Given the description of an element on the screen output the (x, y) to click on. 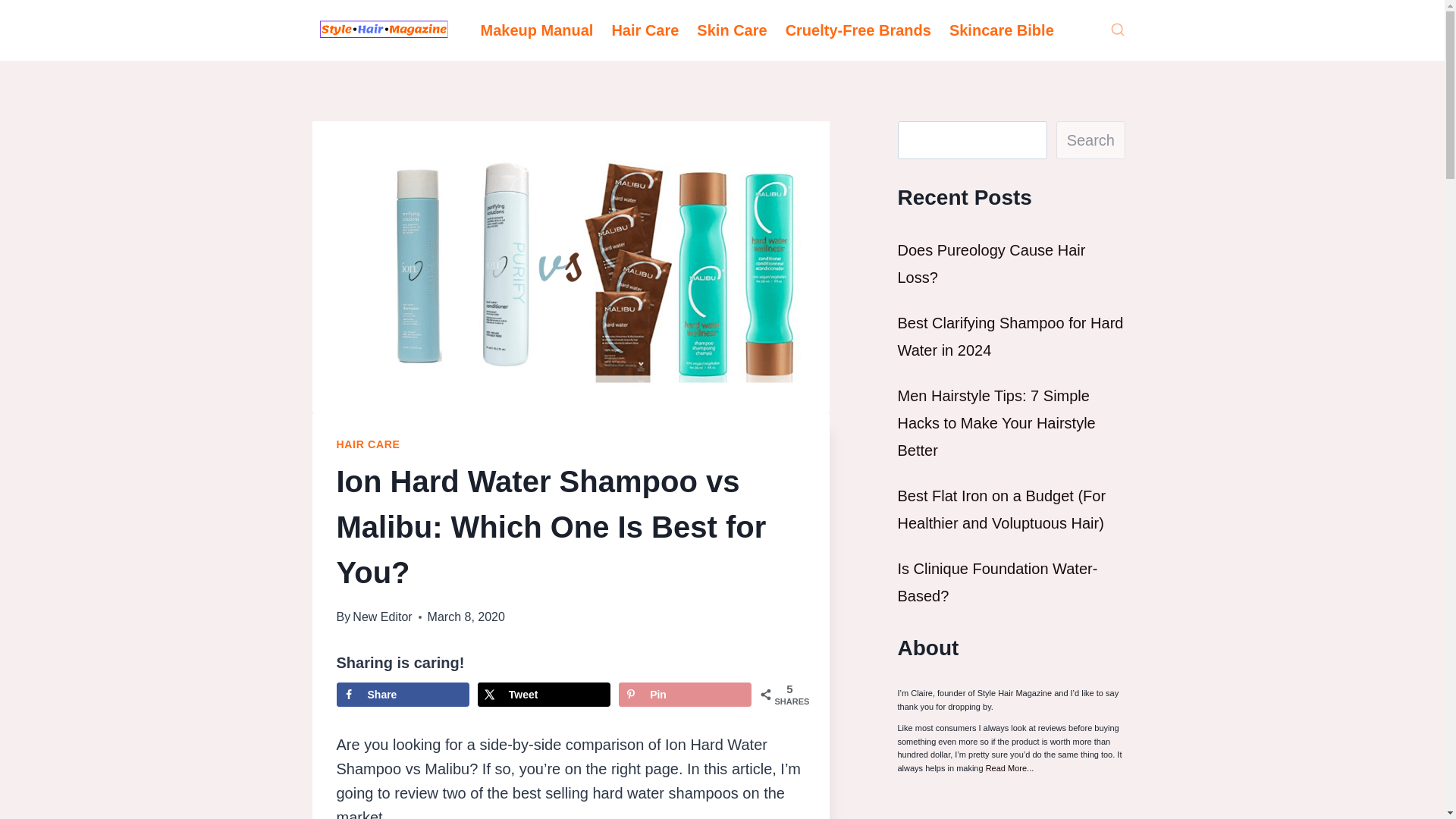
Skin Care (731, 30)
New Editor (382, 616)
Tweet (543, 694)
Share (402, 694)
Does Pureology Cause Hair Loss? (992, 263)
Hair Care (644, 30)
Is Clinique Foundation Water-Based? (997, 582)
Read More... (1009, 768)
Pin (684, 694)
Skincare Bible (1001, 30)
Search (1090, 139)
Share on Facebook (402, 694)
Share on X (543, 694)
Cruelty-Free Brands (858, 30)
